Given the description of an element on the screen output the (x, y) to click on. 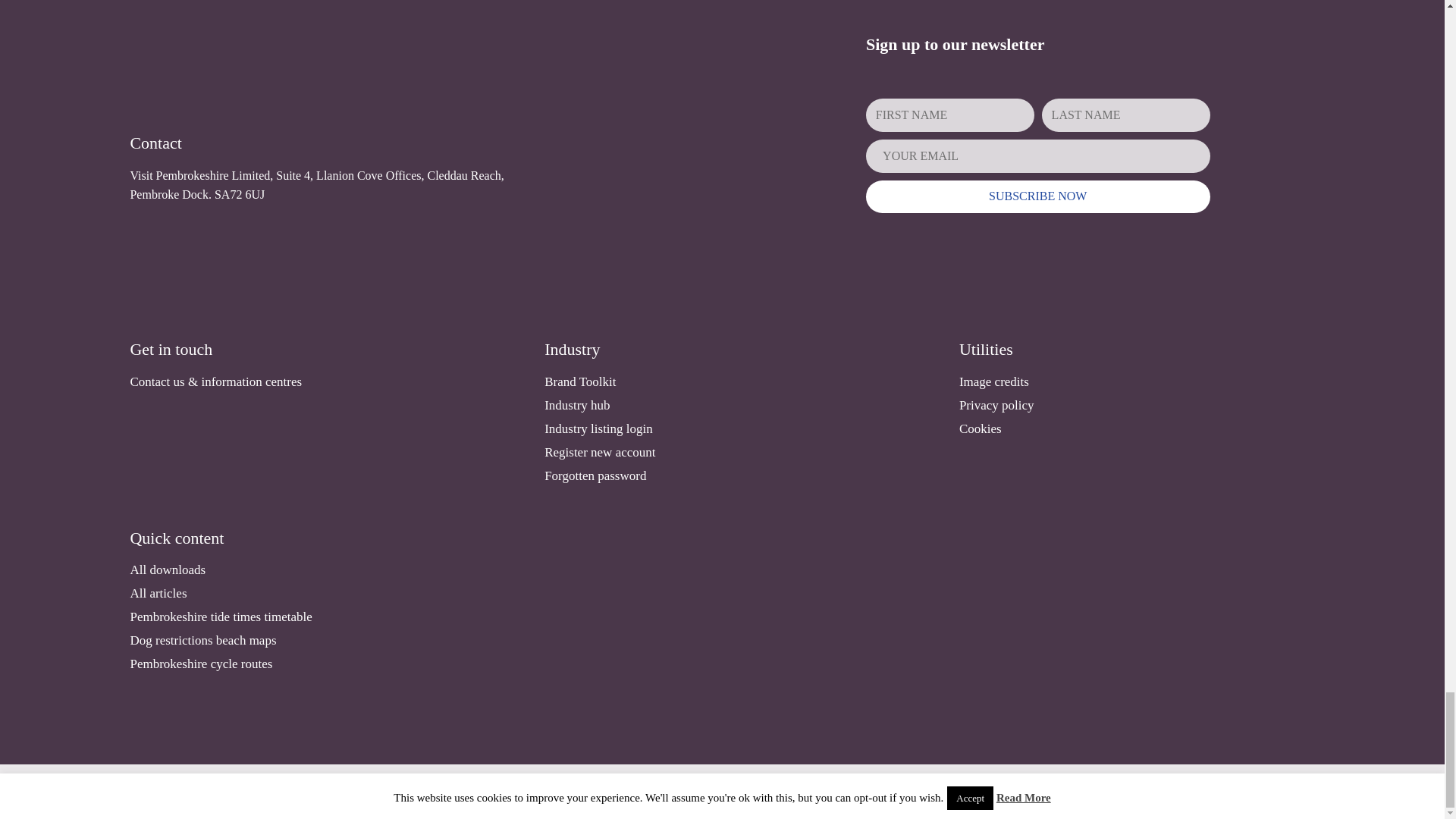
Facebook (1162, 796)
Visit Pembrokeshire (321, 53)
Blog (1296, 796)
YouTube (1262, 796)
Twitter (1196, 796)
Instagram (1229, 796)
Subscribe Now (1037, 196)
